Given the description of an element on the screen output the (x, y) to click on. 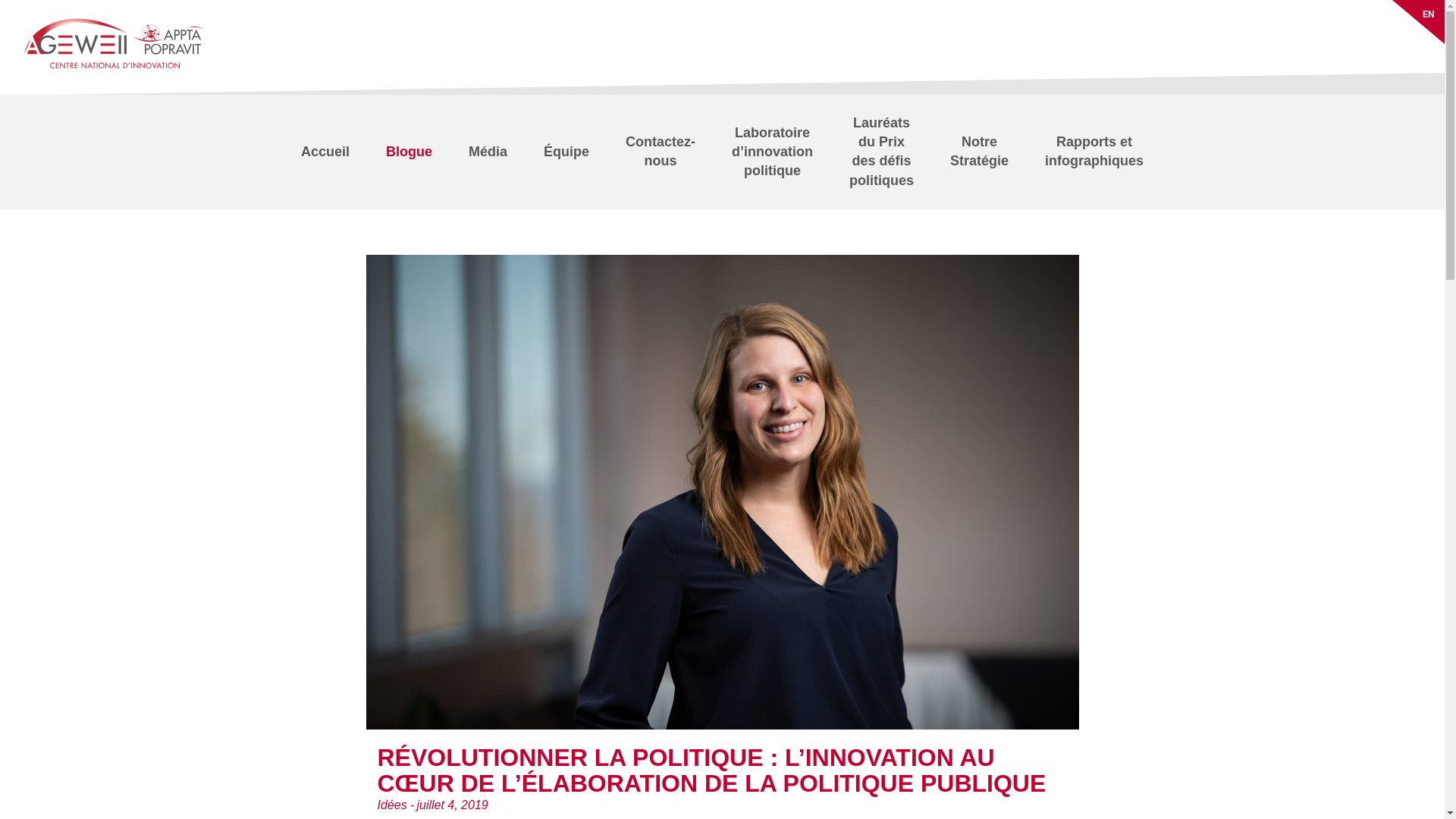
Rapports et infographiques Element type: text (1093, 151)
Contactez-nous Element type: text (660, 151)
Blogue Element type: text (408, 151)
Accueil Element type: text (325, 151)
EN Element type: text (1431, 12)
